Given the description of an element on the screen output the (x, y) to click on. 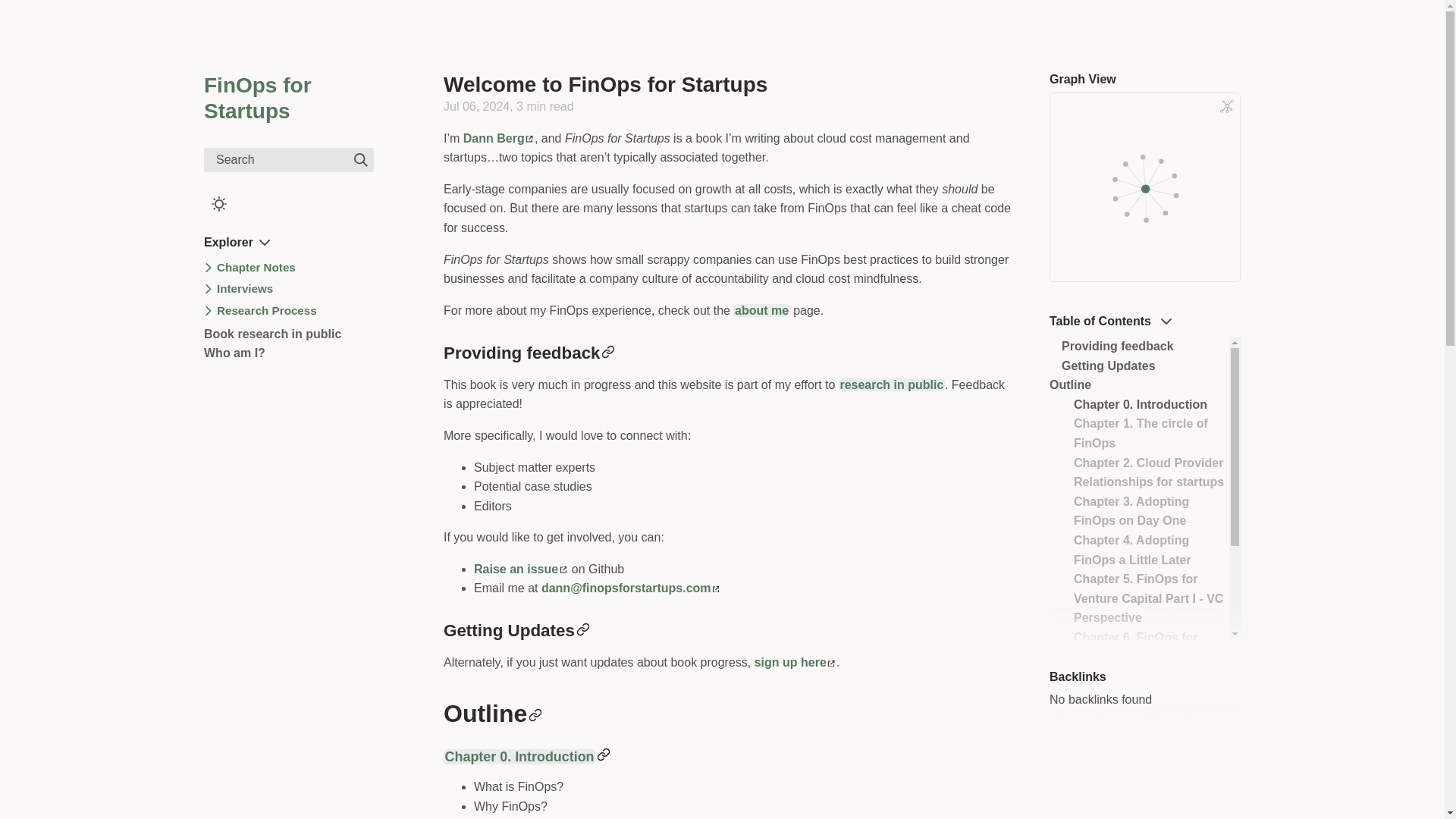
Who am I? (233, 352)
Research Process (266, 311)
Raise an issue (520, 568)
Interviews (244, 288)
Explorer (236, 242)
research in public (891, 384)
Chapter 0. Introduction (519, 756)
about me (761, 309)
Dann Berg (498, 137)
FinOps for Startups (257, 97)
sign up here (794, 662)
Book research in public (271, 333)
Chapter Notes (255, 267)
